Given the description of an element on the screen output the (x, y) to click on. 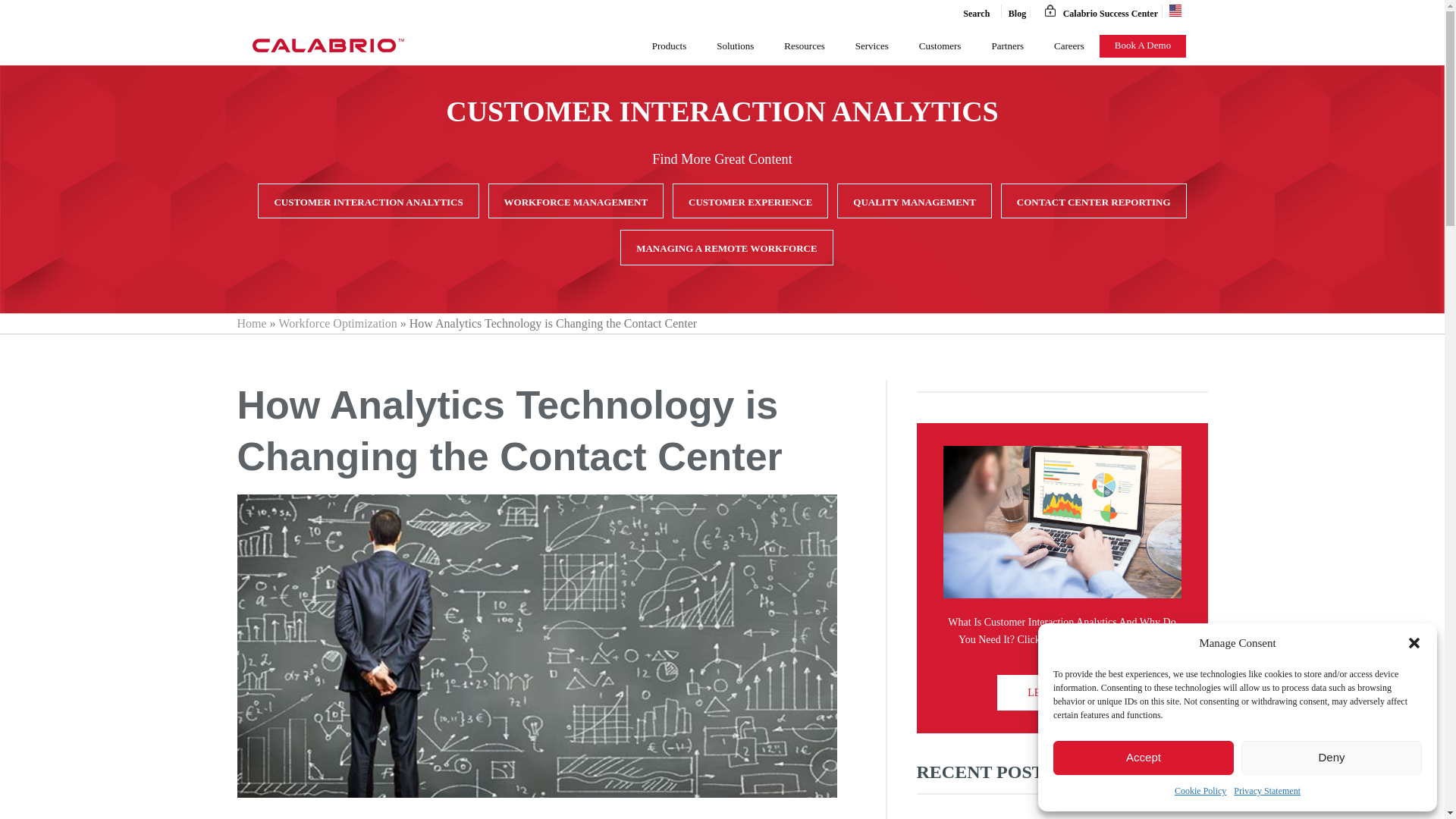
Resources (804, 45)
Partners (1007, 45)
Customers (940, 45)
Contact Center Workforce Optimization (327, 45)
Search (970, 10)
Services (872, 45)
Deny (1331, 757)
Accept (1142, 757)
Calabrio Success Center (1097, 10)
Products (669, 45)
Solutions (734, 45)
Solutions (734, 45)
Careers (1069, 45)
Products (669, 45)
Book A Demo (1142, 46)
